Given the description of an element on the screen output the (x, y) to click on. 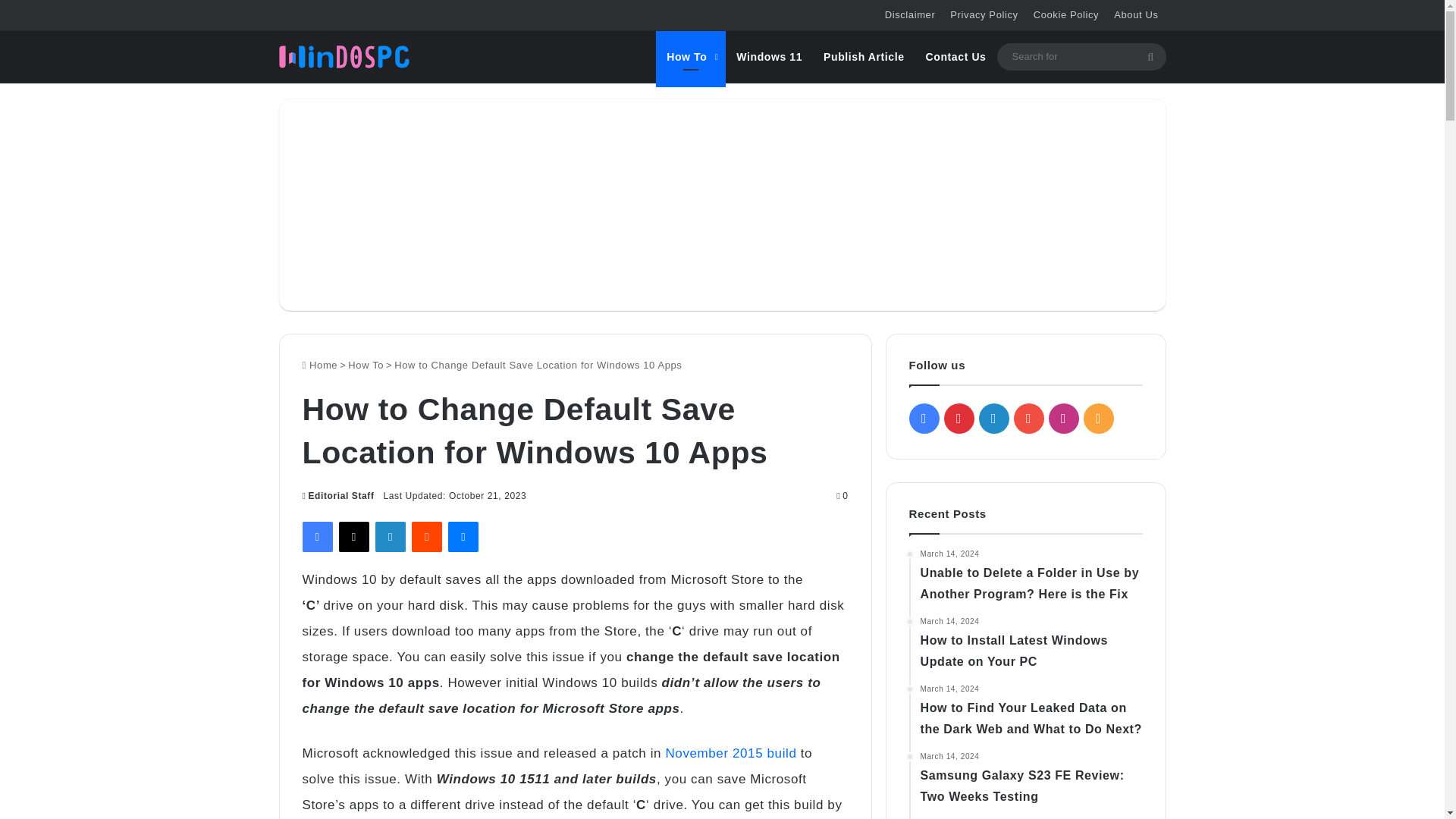
Windows 11 (768, 56)
WinDOSPC (344, 56)
Search for (1150, 56)
Messenger (463, 536)
How To (365, 365)
Search for (1080, 56)
LinkedIn (390, 536)
How To (690, 56)
Cookie Policy (1066, 15)
Editorial Staff (337, 495)
